Given the description of an element on the screen output the (x, y) to click on. 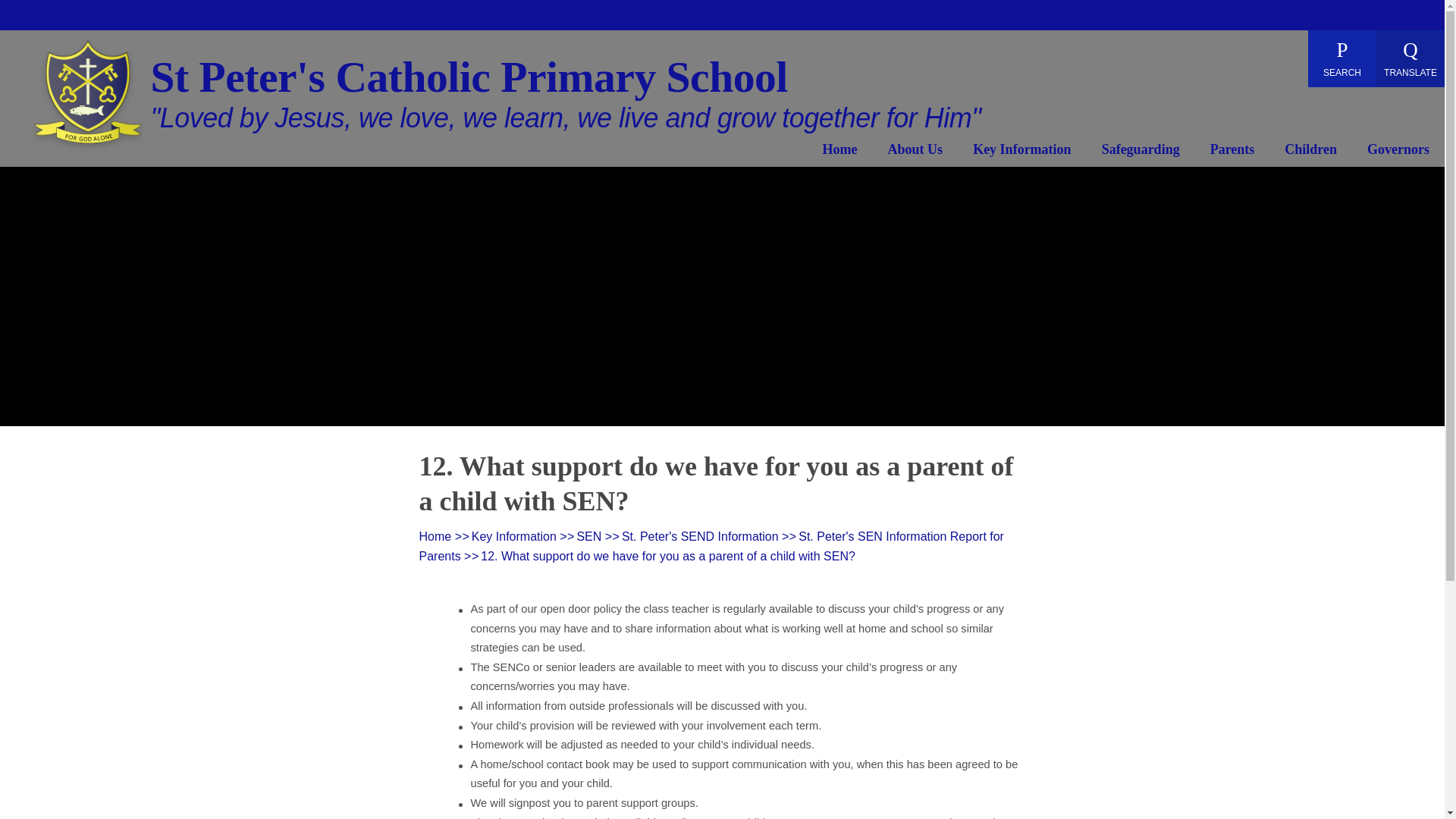
Home (839, 152)
Home Page (88, 96)
About Us (915, 152)
Key Information (1021, 152)
